Given the description of an element on the screen output the (x, y) to click on. 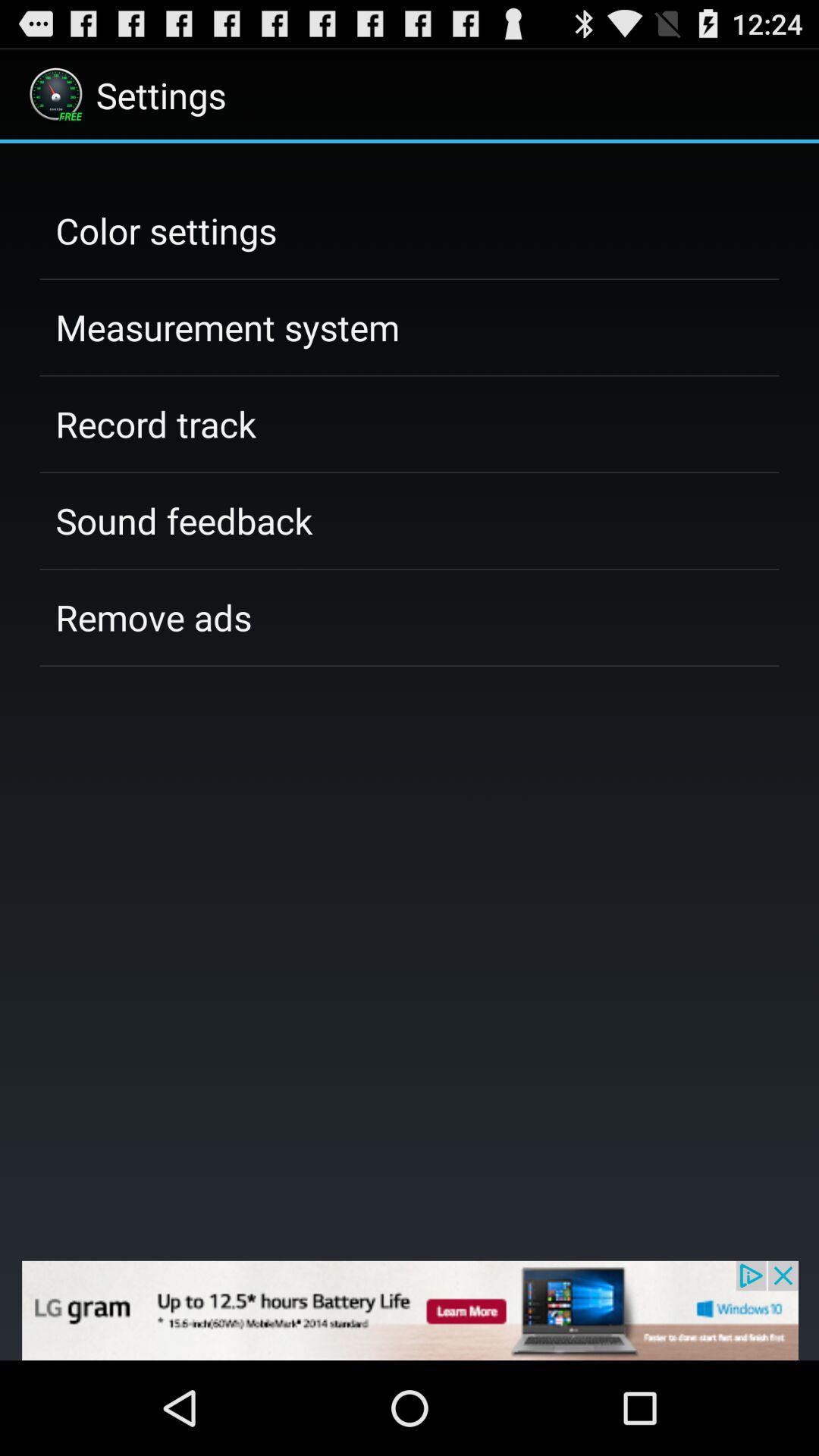
lg shopping banner advertisement (409, 1310)
